Given the description of an element on the screen output the (x, y) to click on. 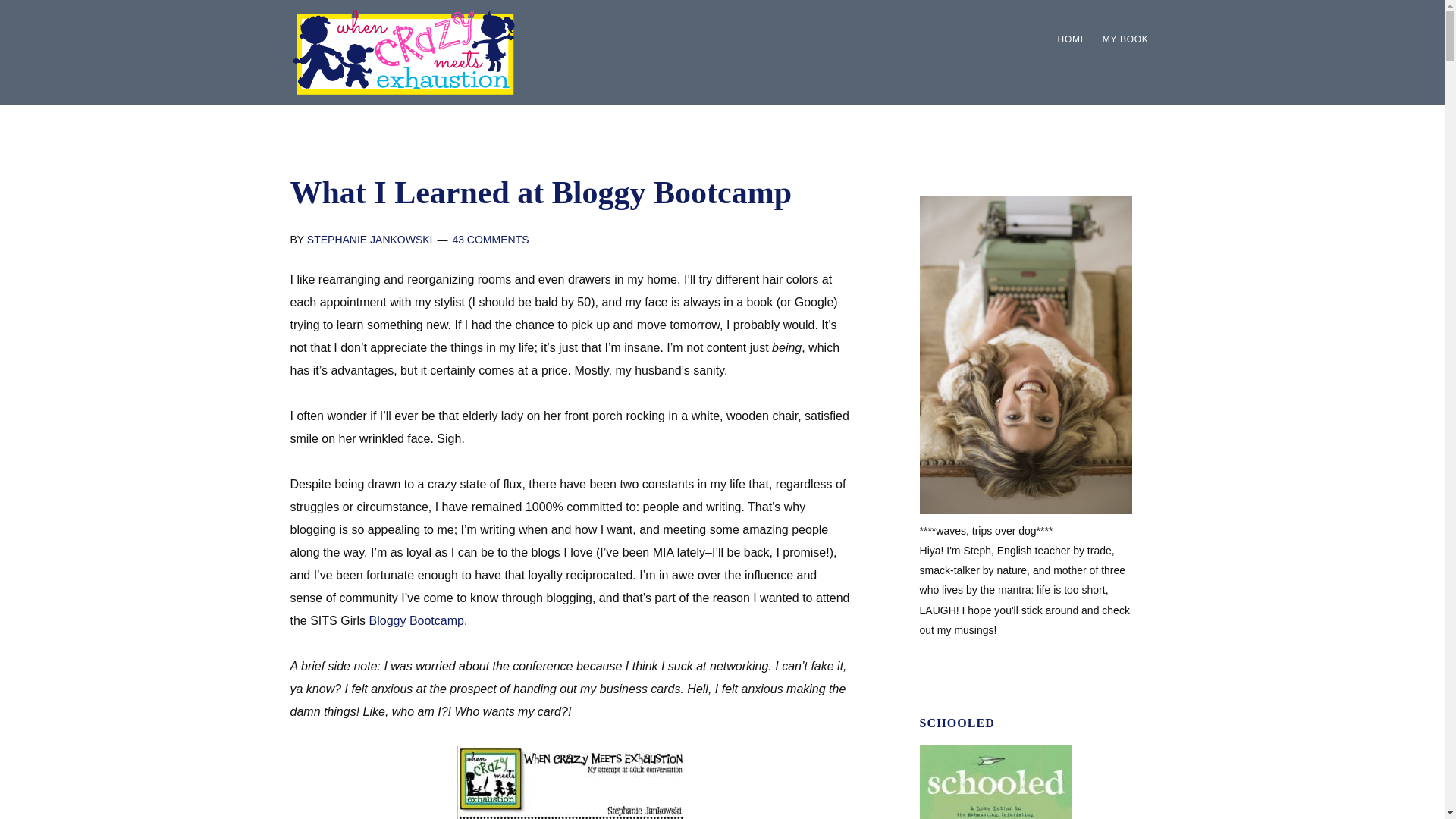
43 COMMENTS (489, 239)
WHEN CRAZY MEETS EXHAUSTION (402, 52)
MY BOOK (1125, 39)
STEPHANIE JANKOWSKI (369, 239)
Bloggy Bootcamp (416, 620)
